Given the description of an element on the screen output the (x, y) to click on. 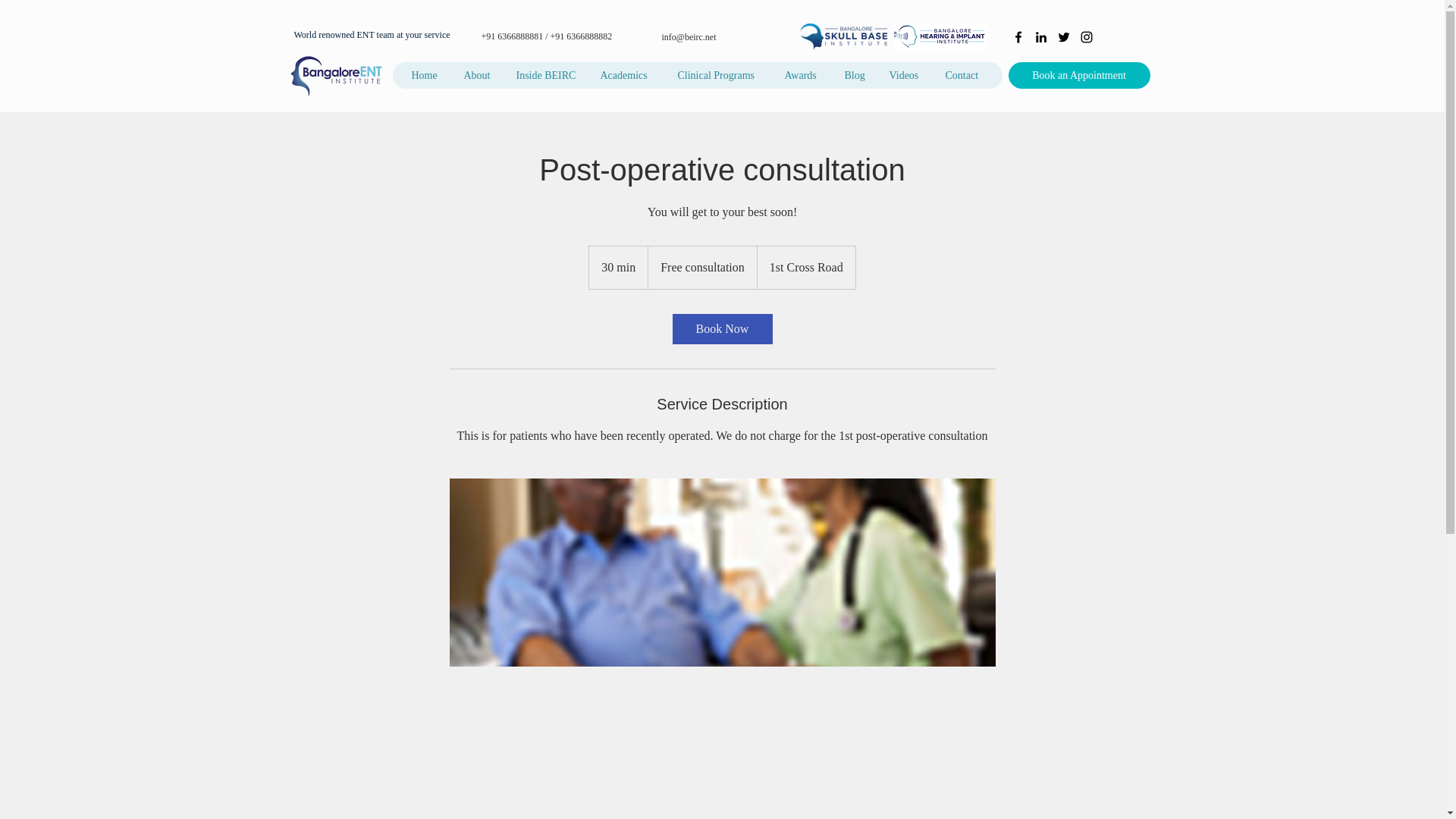
Book Now (721, 328)
Blog (854, 75)
Book an Appointment (1079, 75)
Videos (904, 75)
Awards (801, 75)
Home (424, 75)
